Given the description of an element on the screen output the (x, y) to click on. 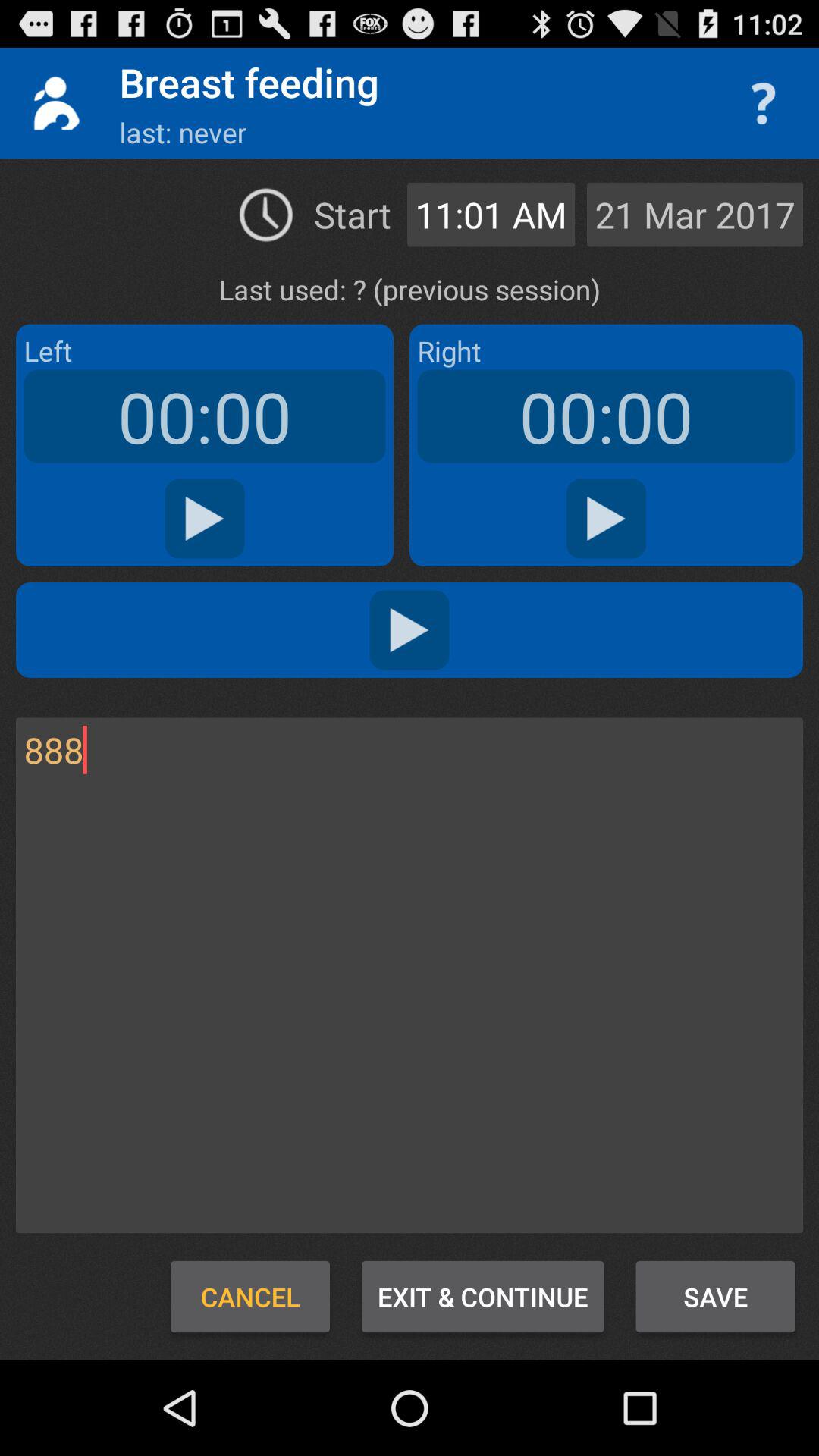
question mark (763, 103)
